Given the description of an element on the screen output the (x, y) to click on. 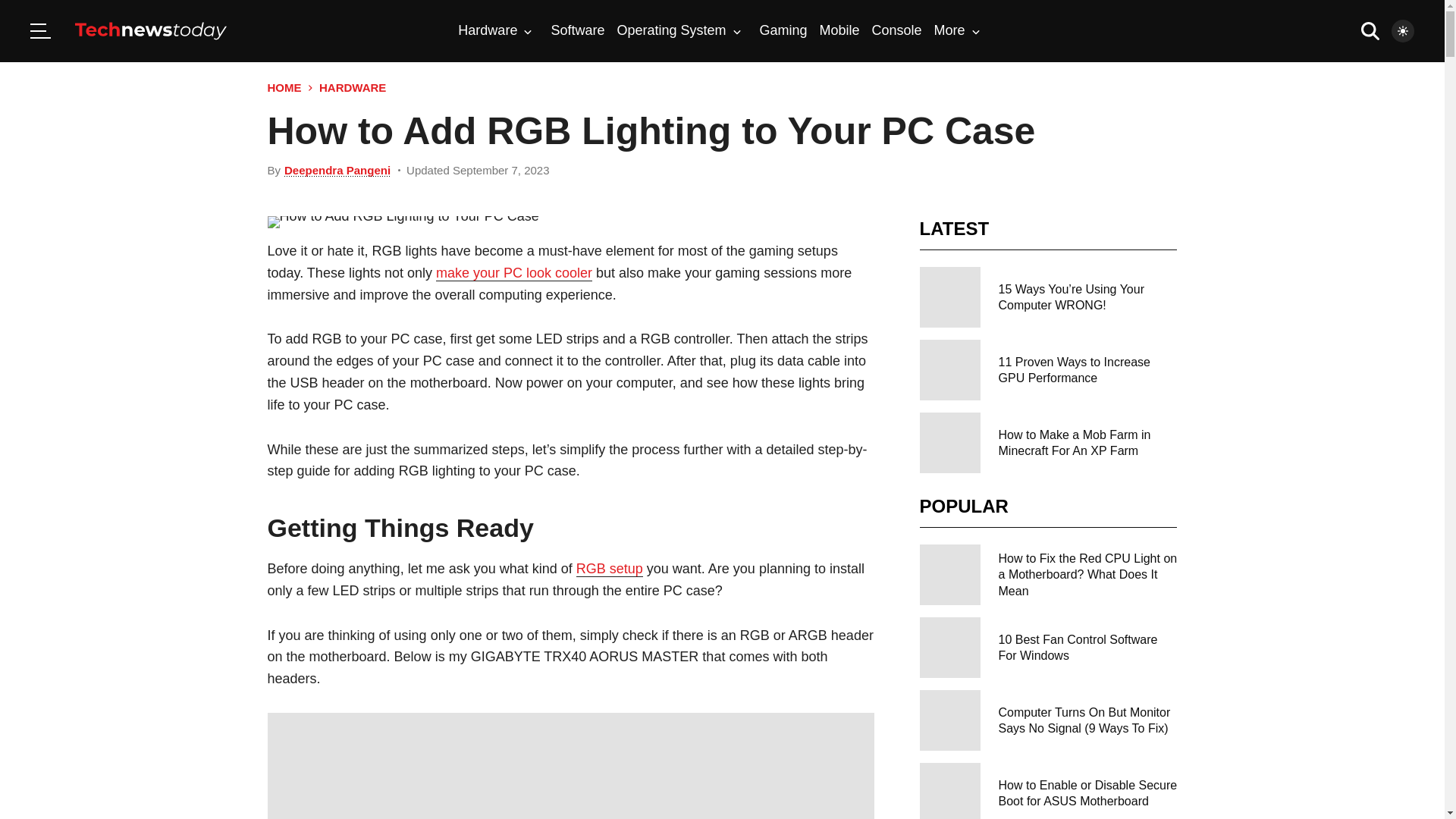
Gaming (784, 30)
How to Add RGB Lighting to Your PC Case 1 (569, 765)
Console (896, 30)
More (956, 30)
Operating System (678, 30)
Hardware (495, 30)
Software (577, 30)
Mobile (839, 30)
